Given the description of an element on the screen output the (x, y) to click on. 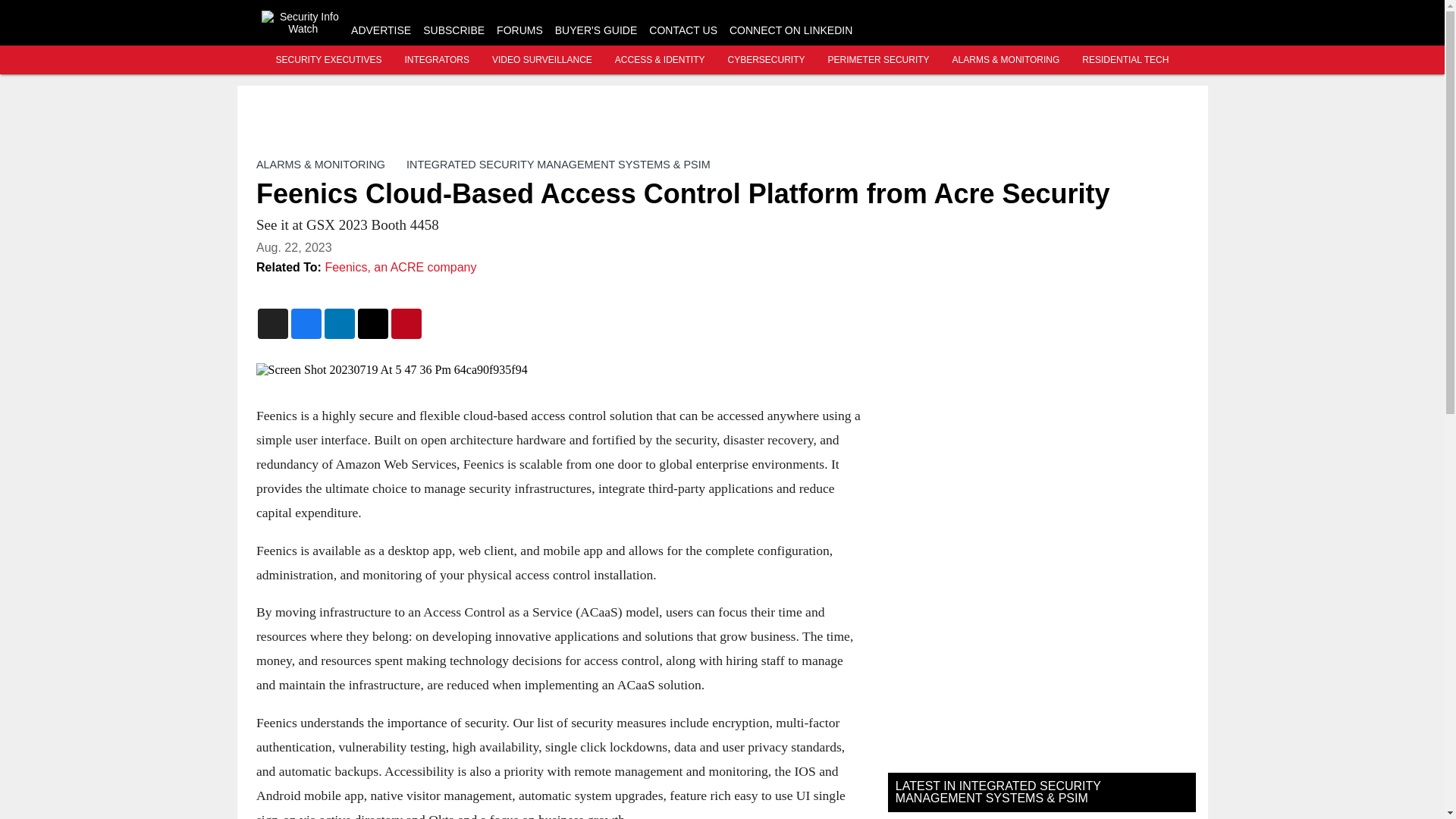
SUBSCRIBE (453, 30)
Screen Shot 20230719 At 5 47 36 Pm 64ca90f935f94 (560, 369)
FORUMS (519, 30)
CYBERSECURITY (766, 59)
ADVERTISE (380, 30)
CONNECT ON LINKEDIN (790, 30)
RESIDENTIAL TECH (1125, 59)
SECURITY EXECUTIVES (328, 59)
CONTACT US (683, 30)
INTEGRATORS (436, 59)
BUYER'S GUIDE (595, 30)
PERIMETER SECURITY (879, 59)
Feenics, an ACRE company (400, 267)
VIDEO SURVEILLANCE (542, 59)
